Given the description of an element on the screen output the (x, y) to click on. 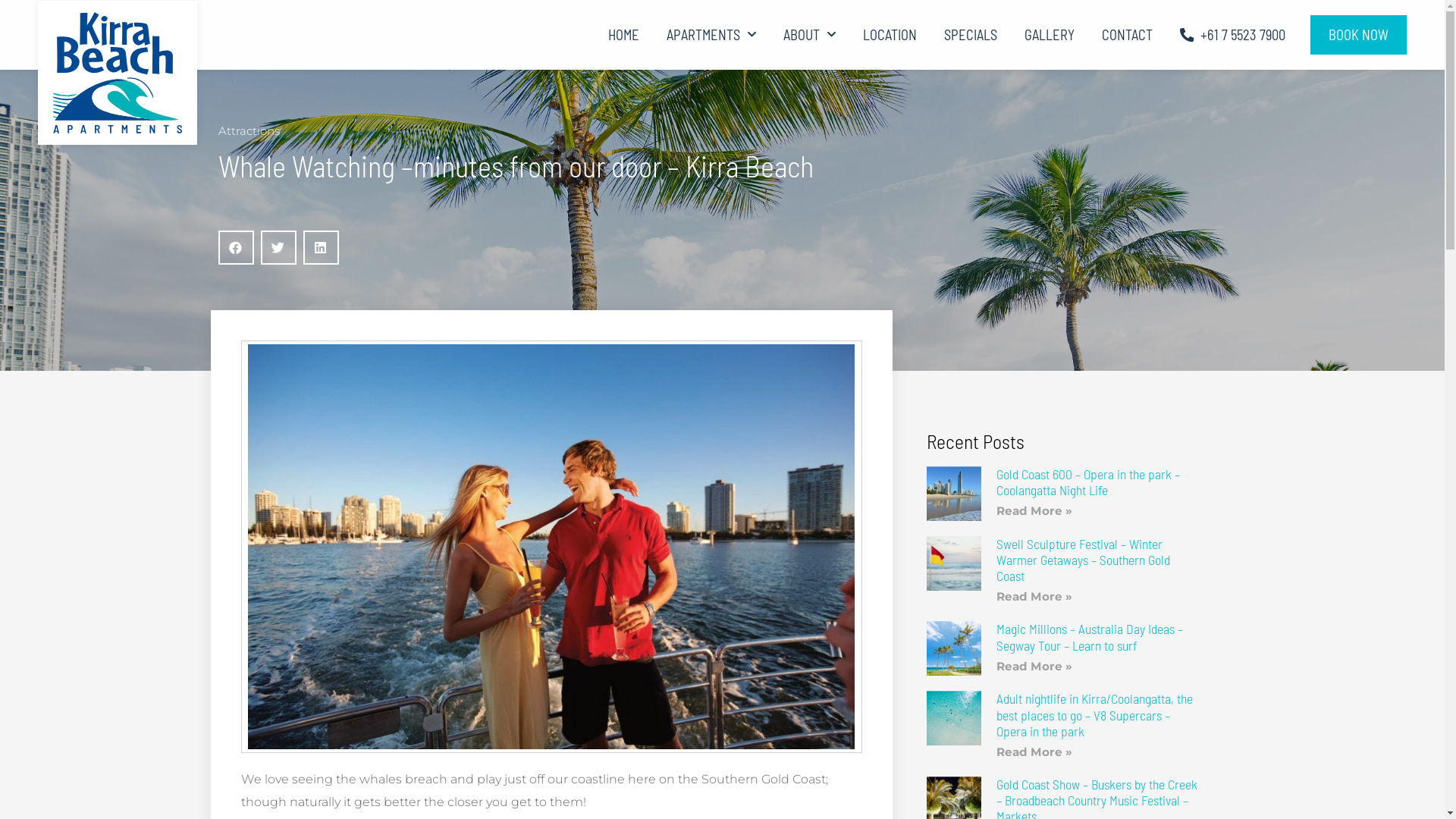
Attractions Element type: text (248, 130)
ABOUT Element type: text (809, 34)
+61 7 5523 7900 Element type: text (1232, 34)
CONTACT Element type: text (1127, 34)
APARTMENTS Element type: text (710, 34)
LOCATION Element type: text (889, 34)
HOME Element type: text (623, 34)
GALLERY Element type: text (1049, 34)
SPECIALS Element type: text (970, 34)
BOOK NOW Element type: text (1358, 34)
